Given the description of an element on the screen output the (x, y) to click on. 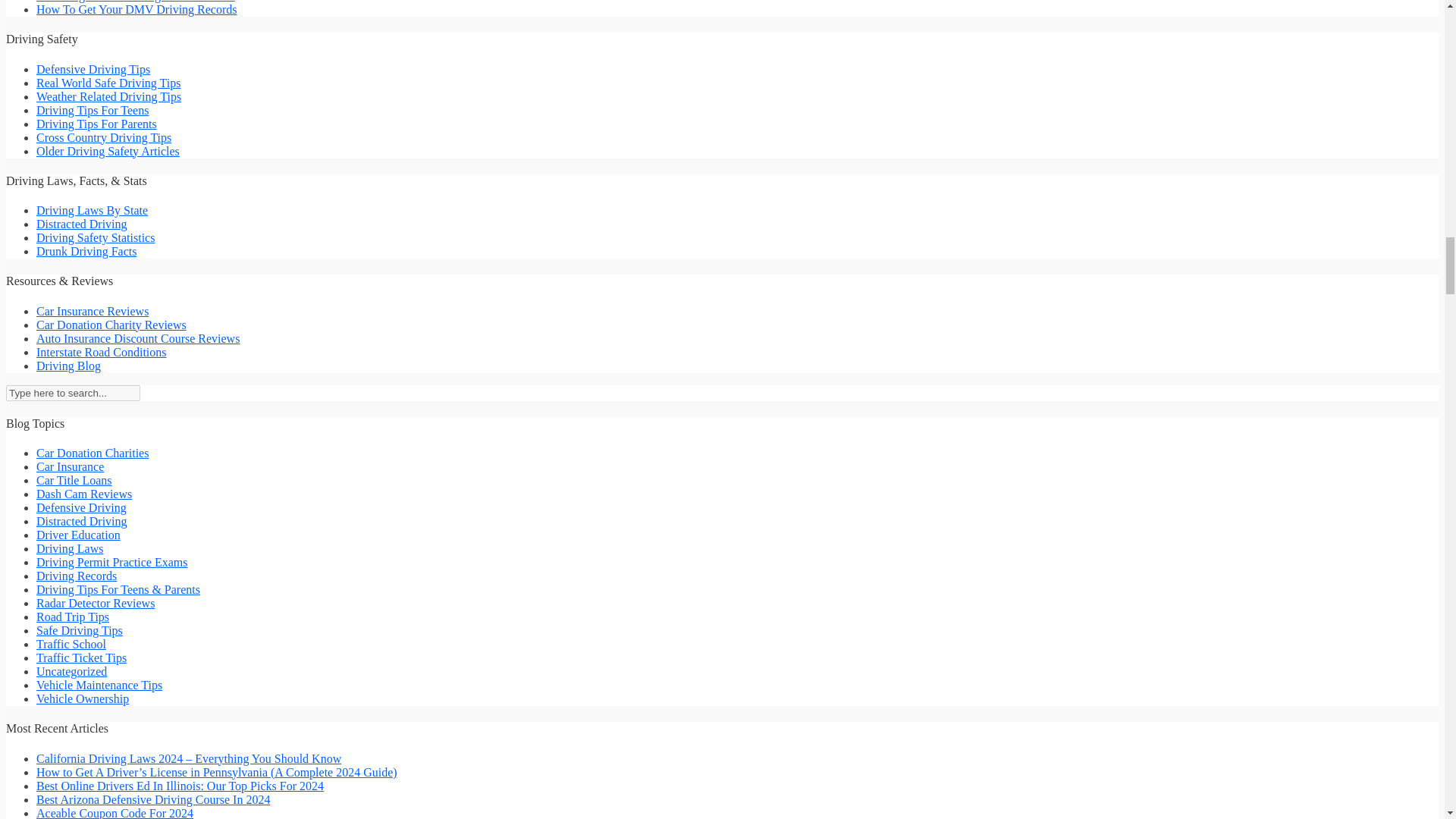
Type here to search... (72, 392)
Type here to search... (72, 392)
